Given the description of an element on the screen output the (x, y) to click on. 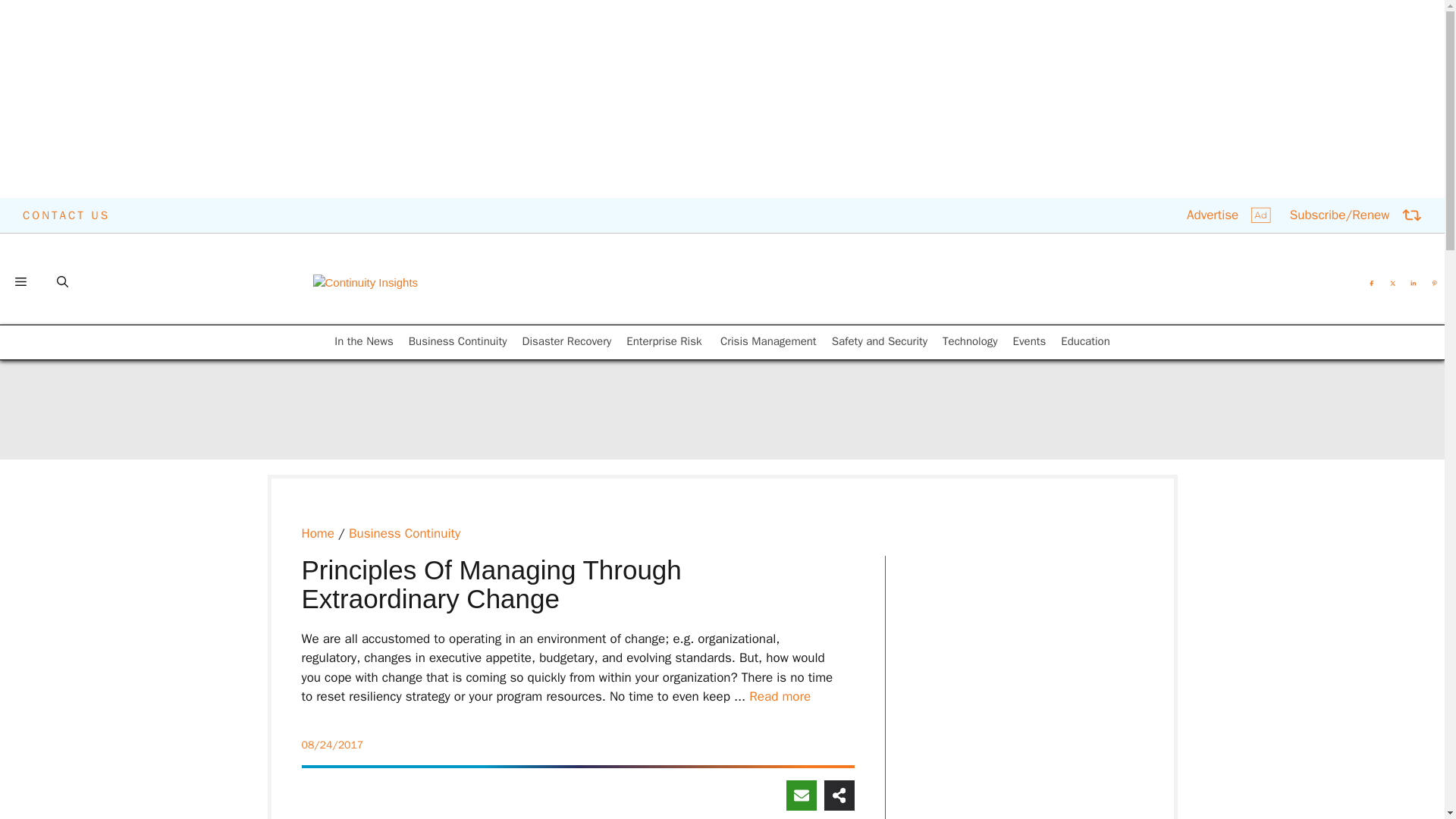
Principles of Managing Through Extraordinary Change (779, 696)
Read more (779, 696)
Crisis Management (768, 341)
Safety and Security (879, 341)
Enterprise Risk  (665, 341)
CONTACT US (66, 214)
Continuity Insights (365, 282)
Home (317, 533)
Events (1029, 341)
In the News (363, 341)
Advertise (1228, 215)
Business Continuity (457, 341)
Education (1085, 341)
Disaster Recovery (566, 341)
Technology (969, 341)
